Given the description of an element on the screen output the (x, y) to click on. 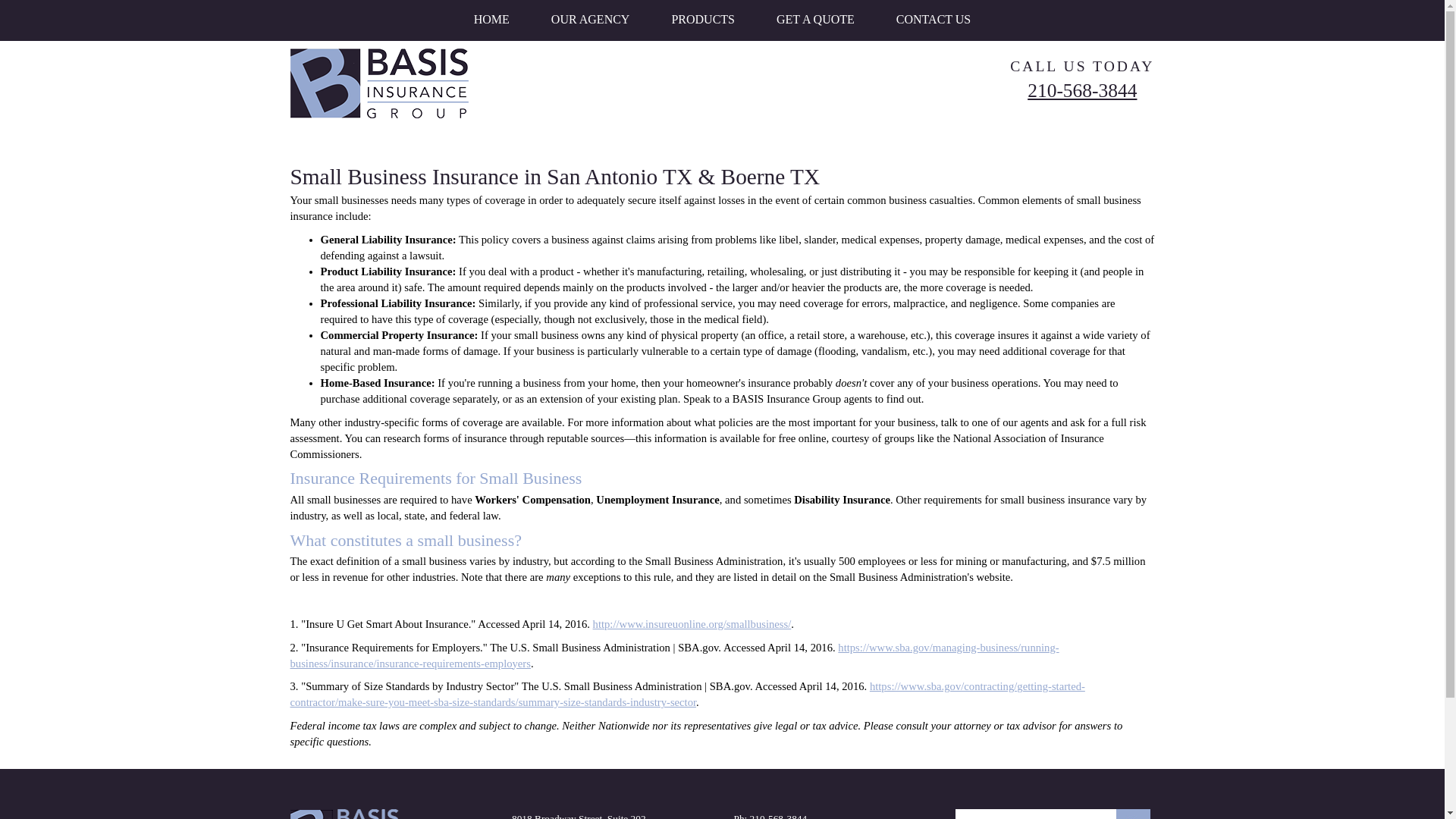
OUR AGENCY (590, 18)
HOME (491, 18)
PRODUCTS (703, 18)
